Given the description of an element on the screen output the (x, y) to click on. 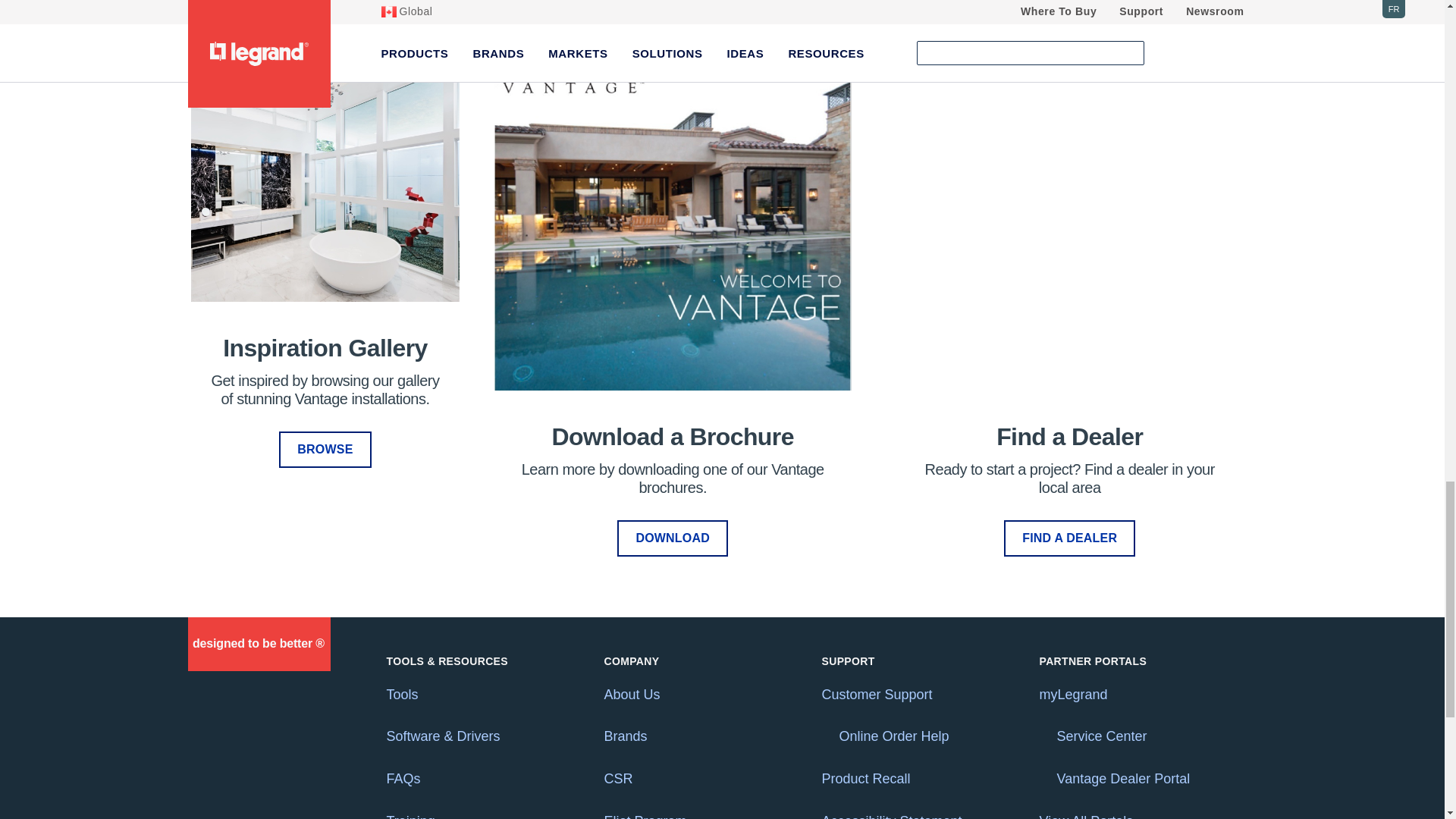
Opens in a new tab. (1043, 777)
Opens in a new tab. (1043, 736)
Opens in a new tab. (826, 736)
Legrand US (258, 644)
